Given the description of an element on the screen output the (x, y) to click on. 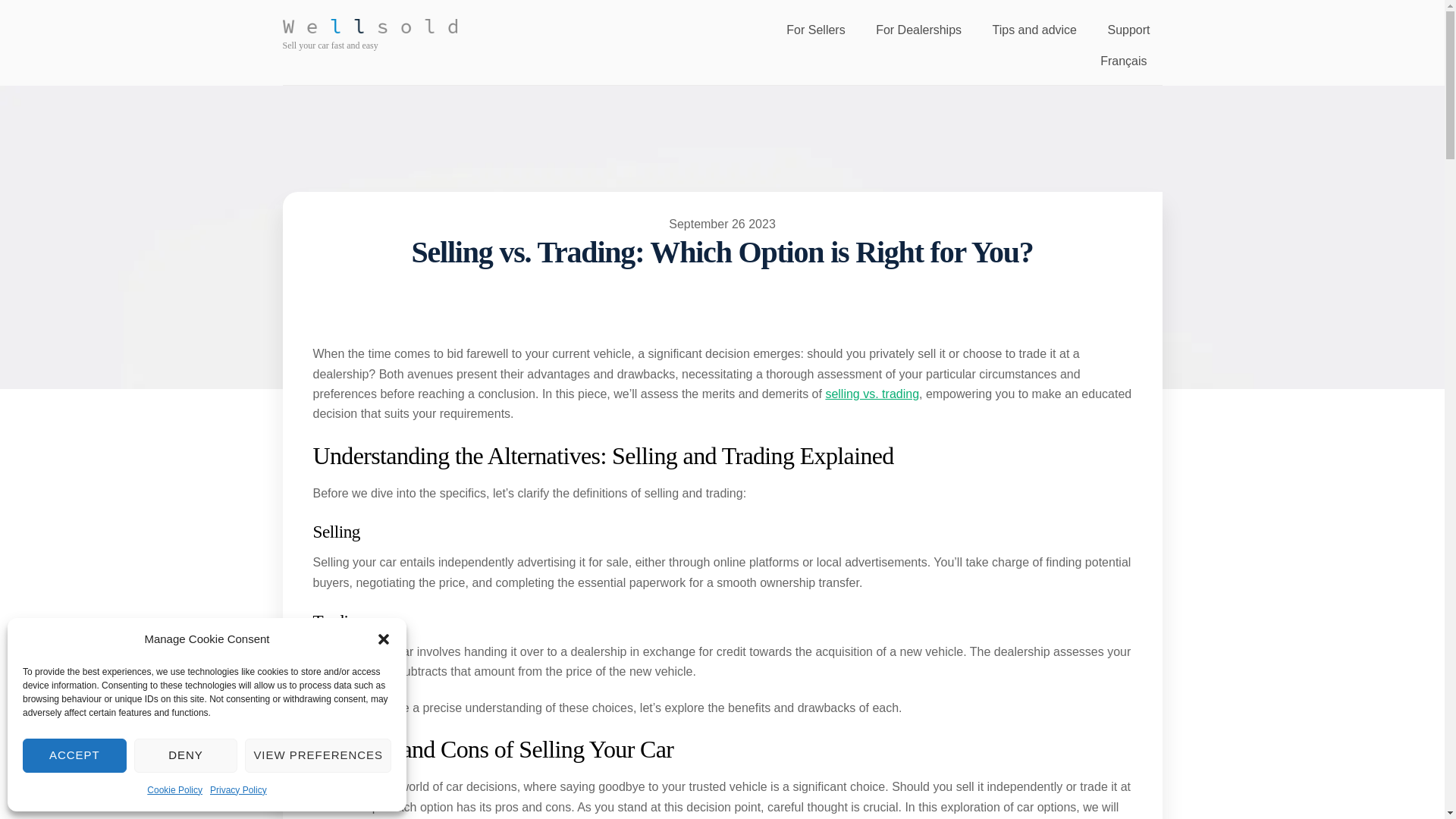
selling vs. trading (871, 393)
For Dealerships (918, 30)
VIEW PREFERENCES (317, 755)
Privacy Policy (237, 790)
Support (1128, 30)
ACCEPT (74, 755)
Cookie Policy (174, 790)
For Sellers (815, 30)
Tips and advice (1034, 30)
DENY (185, 755)
